Given the description of an element on the screen output the (x, y) to click on. 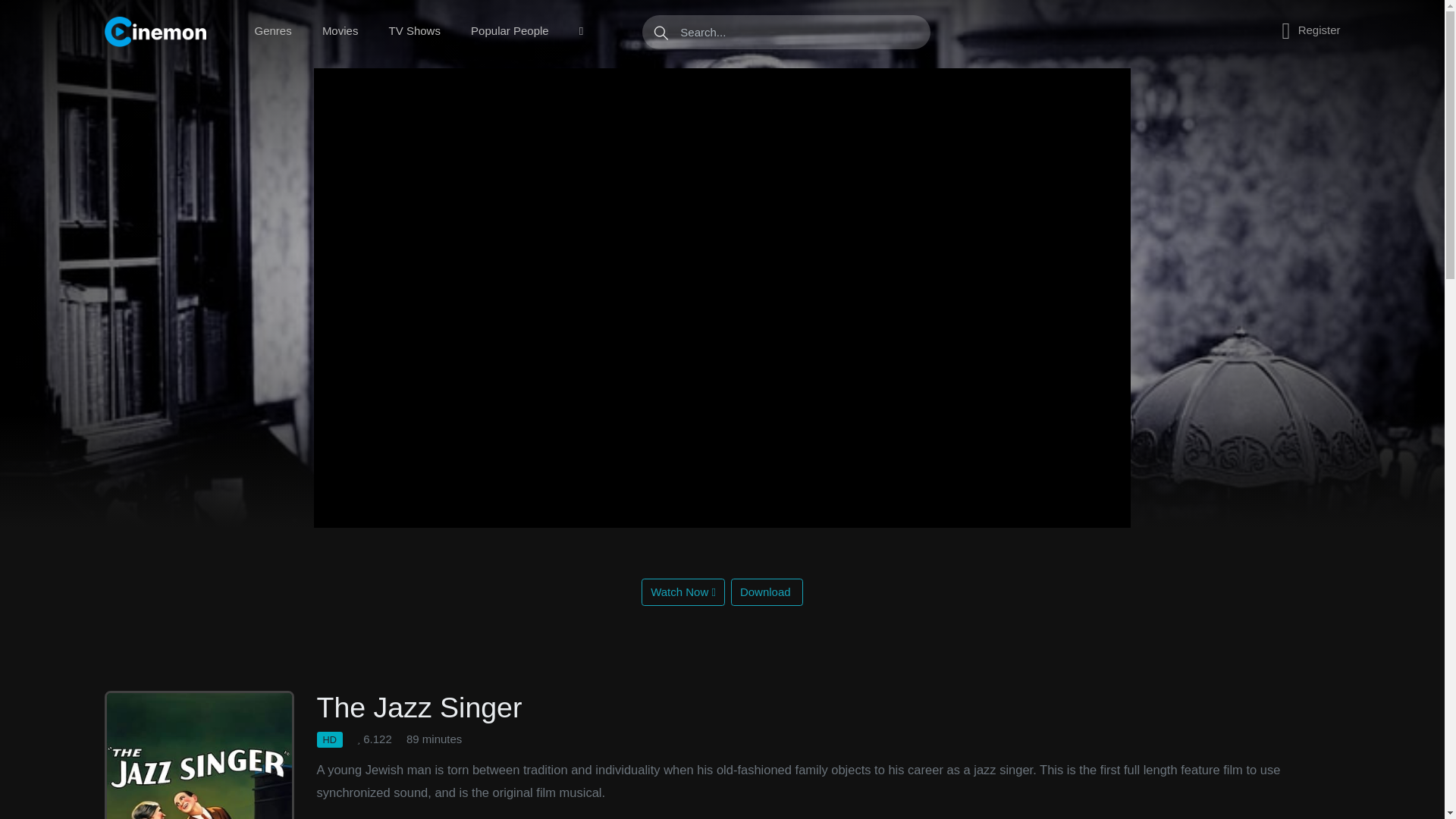
Movies (340, 31)
TV Shows (414, 31)
Popular People (509, 31)
Watch Movies Online Free (157, 31)
Movies (340, 31)
Genres (273, 31)
